Given the description of an element on the screen output the (x, y) to click on. 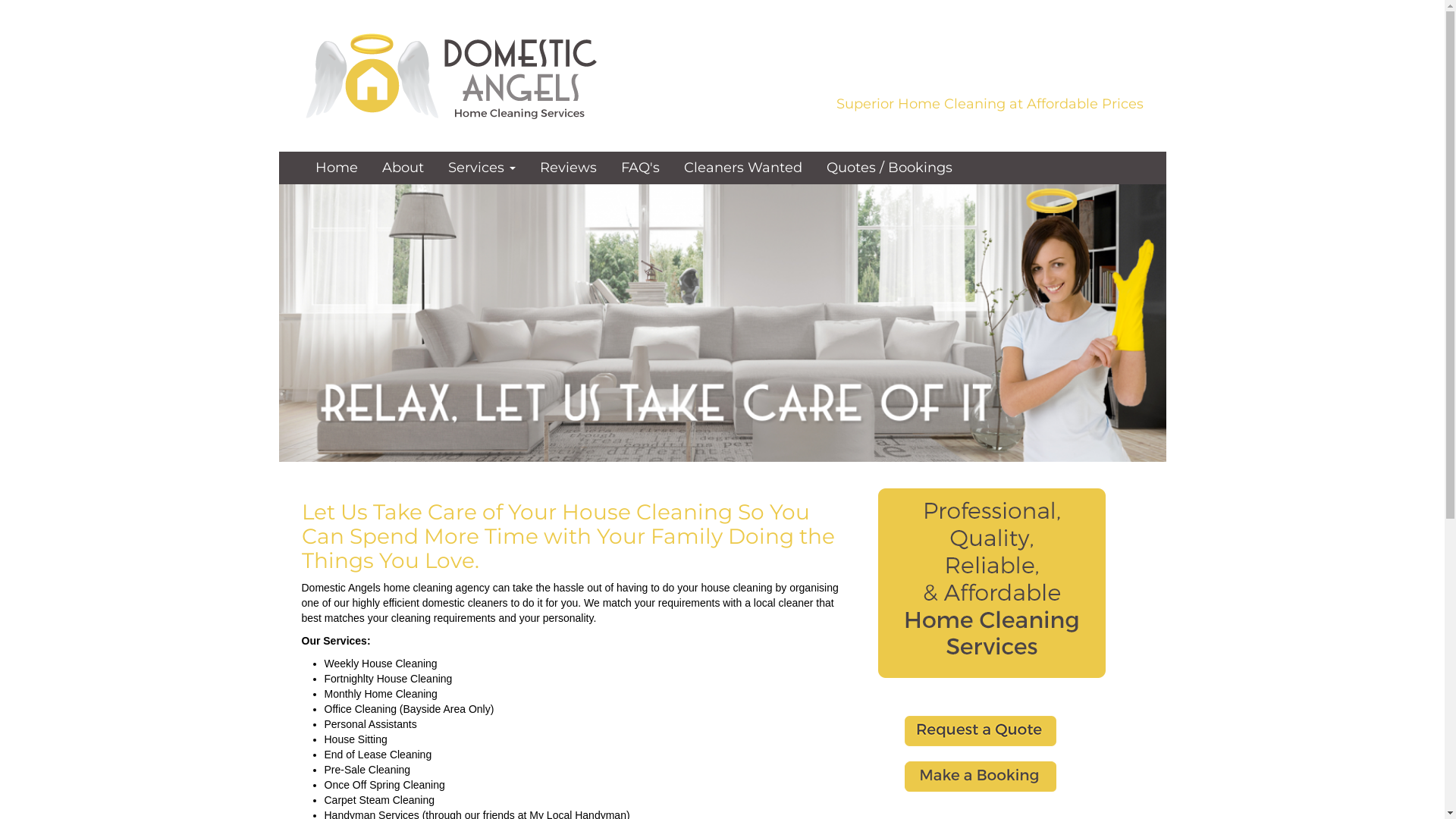
End of Lease Cleaning Element type: text (585, 754)
Home Element type: text (335, 167)
Quotes / Bookings Element type: text (888, 167)
Services Element type: text (481, 167)
Cleaners Wanted Element type: text (741, 167)
FAQ's Element type: text (640, 167)
About Element type: text (402, 167)
Reviews Element type: text (567, 167)
Domestic Angels Element type: hover (453, 75)
